Given the description of an element on the screen output the (x, y) to click on. 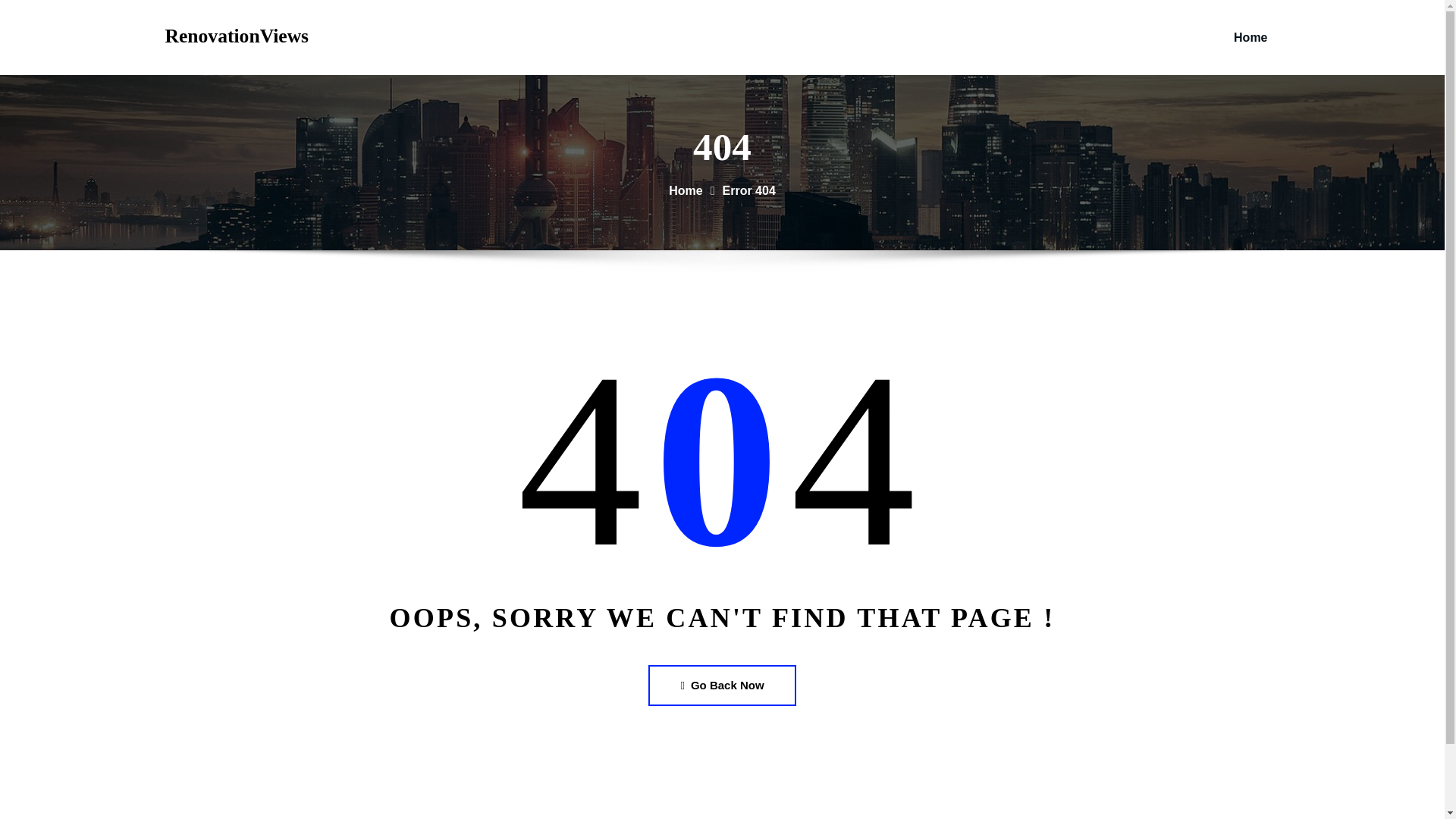
Go Back Now (720, 685)
RenovationViews (236, 35)
Error 404 (749, 190)
Home (684, 190)
